Given the description of an element on the screen output the (x, y) to click on. 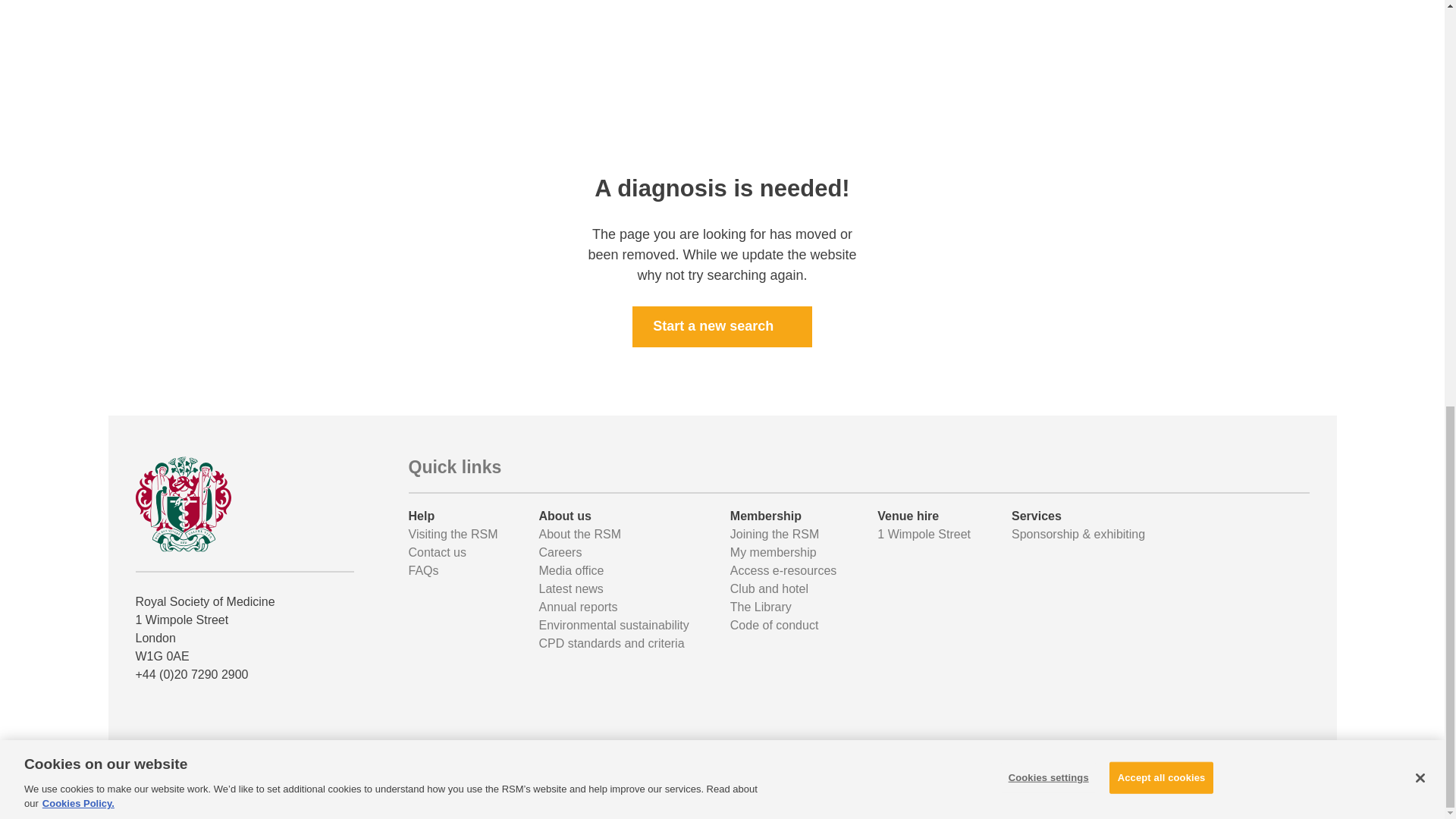
Annual reports (577, 606)
The Library (761, 606)
Contact us (436, 552)
About the RSM (579, 533)
CPD standards and criteria (611, 643)
My membership (773, 552)
Club and hotel (769, 588)
Environmental sustainability (613, 625)
FAQs (422, 570)
Joining the RSM (774, 533)
